Given the description of an element on the screen output the (x, y) to click on. 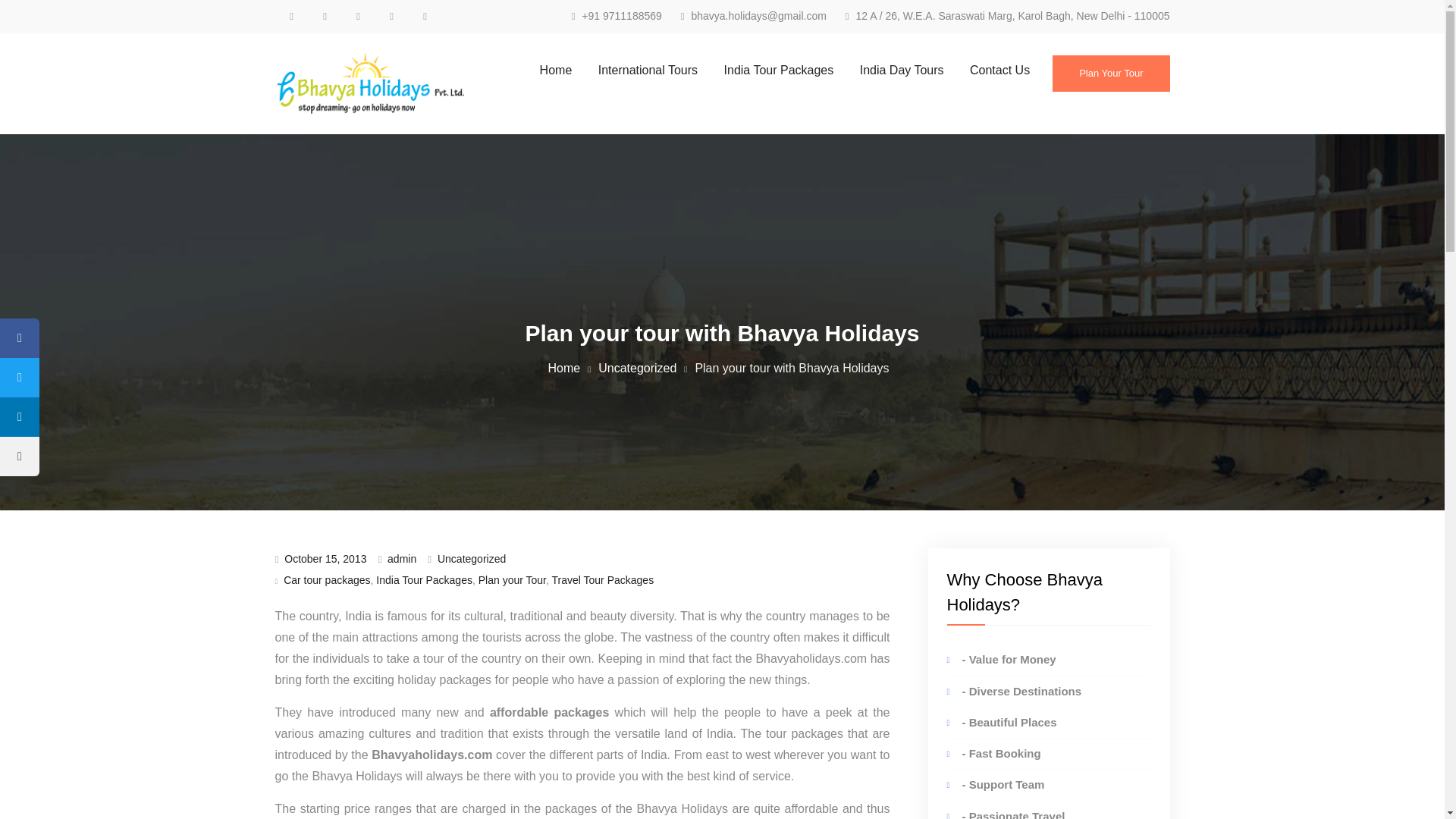
Contact Us (999, 70)
International Tours (647, 70)
Uncategorized (637, 367)
Plan your Tour (512, 580)
International Tours (647, 70)
India Tour Packages (423, 580)
Home (563, 367)
India Day Tours (901, 70)
admin (401, 558)
Uncategorized (471, 558)
India Tour Packages (779, 70)
October 15, 2013 (324, 558)
India Tour Packages (779, 70)
Home (555, 70)
